Given the description of an element on the screen output the (x, y) to click on. 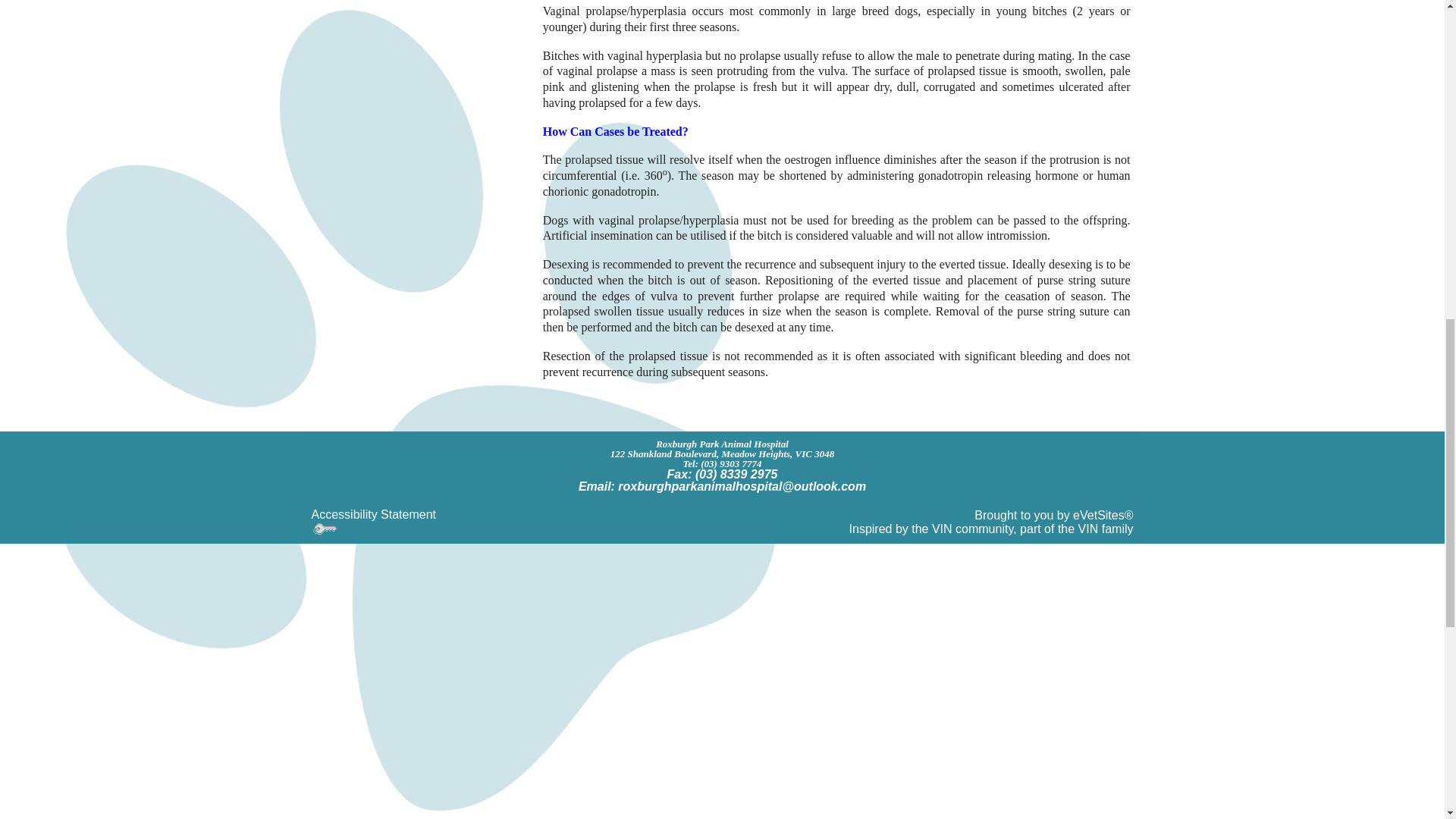
View Accessibility Statement (373, 513)
email today (741, 486)
Veterinary Website Design (991, 528)
